Given the description of an element on the screen output the (x, y) to click on. 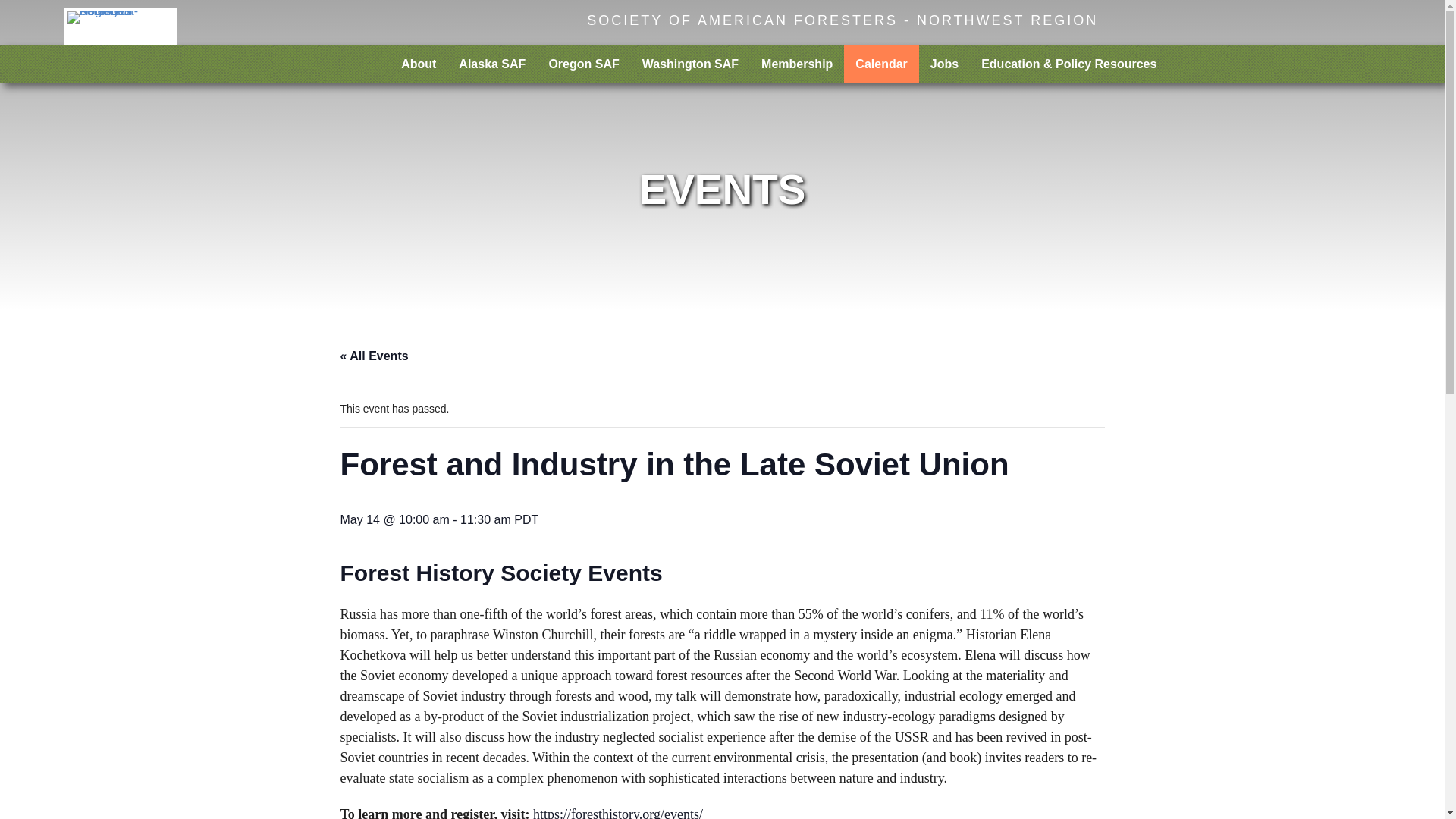
Washington SAF (689, 64)
About (418, 64)
Oregon SAF (583, 64)
Alaska SAF (491, 64)
Membership (796, 64)
